Given the description of an element on the screen output the (x, y) to click on. 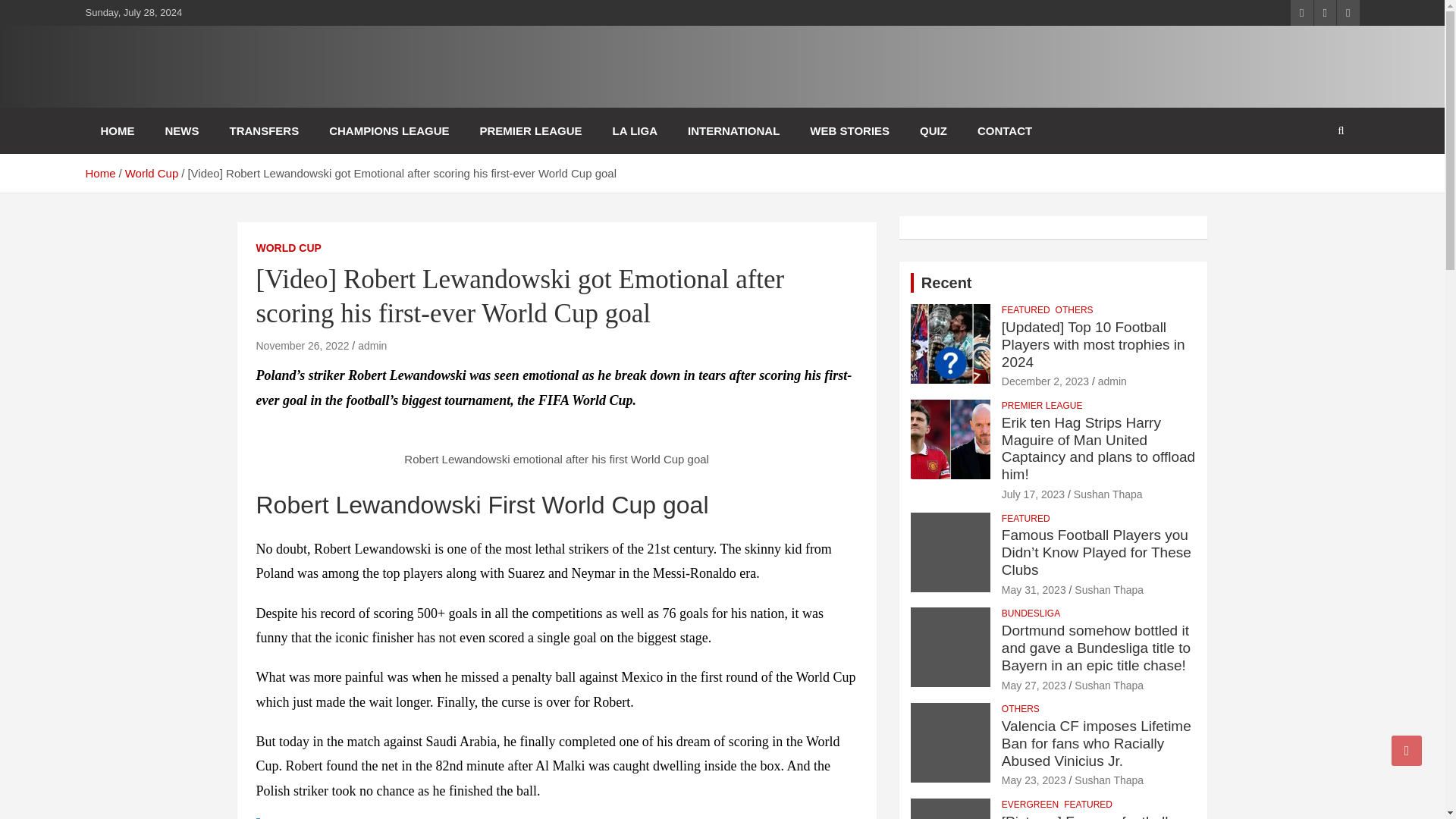
Go to Top (1406, 750)
TRANSFERS (264, 130)
WORLD CUP (288, 248)
Football Devils (192, 96)
Recent (946, 282)
CHAMPIONS LEAGUE (389, 130)
QUIZ (933, 130)
WEB STORIES (849, 130)
admin (372, 345)
FEATURED (1025, 309)
LA LIGA (634, 130)
World Cup (152, 173)
Home (99, 173)
